Given the description of an element on the screen output the (x, y) to click on. 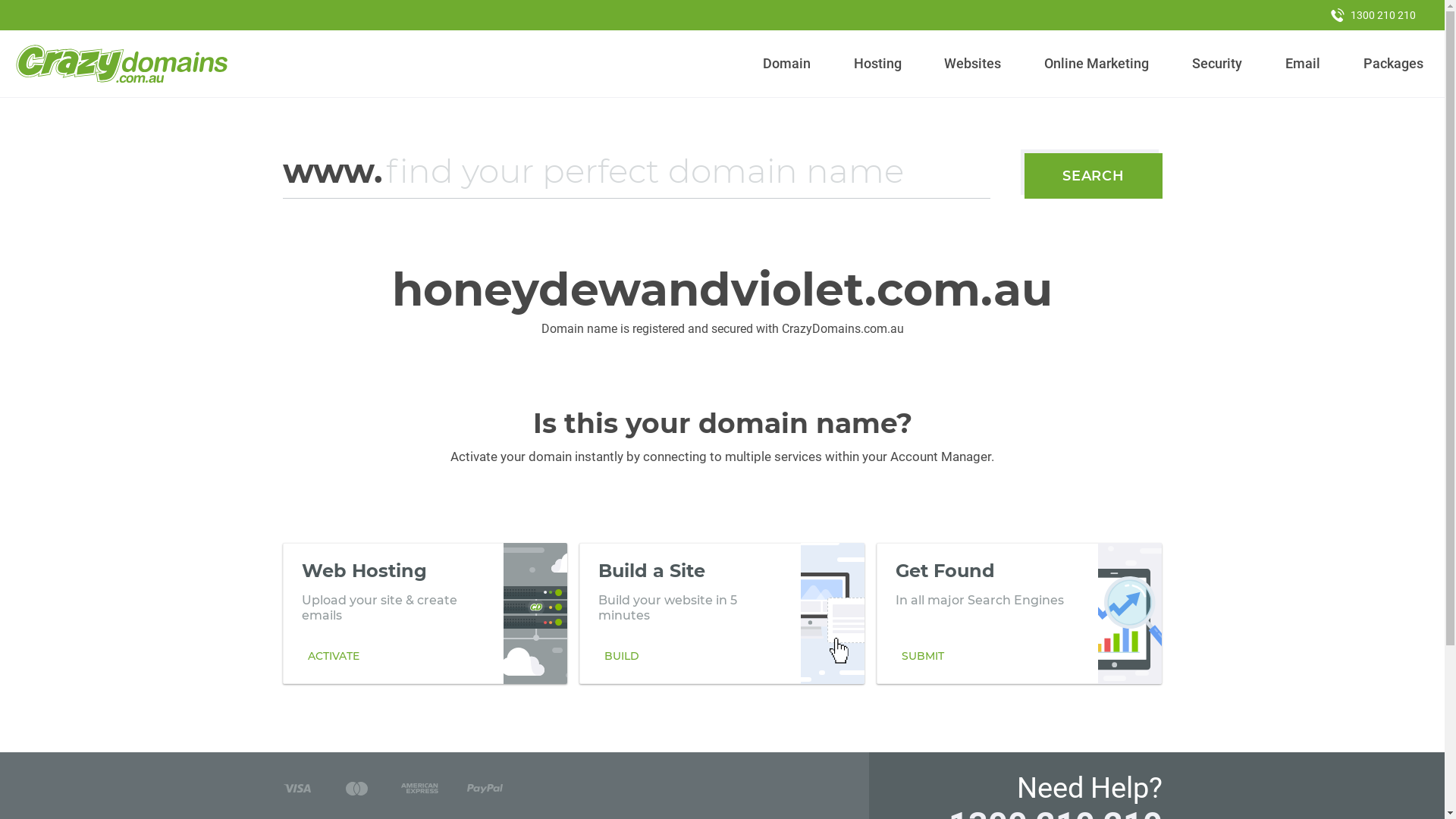
Security Element type: text (1217, 63)
Get Found
In all major Search Engines
SUBMIT Element type: text (1018, 613)
1300 210 210 Element type: text (1373, 15)
Web Hosting
Upload your site & create emails
ACTIVATE Element type: text (424, 613)
Online Marketing Element type: text (1096, 63)
Websites Element type: text (972, 63)
Packages Element type: text (1392, 63)
Hosting Element type: text (877, 63)
SEARCH Element type: text (1092, 175)
Email Element type: text (1302, 63)
Domain Element type: text (786, 63)
Build a Site
Build your website in 5 minutes
BUILD Element type: text (721, 613)
